Given the description of an element on the screen output the (x, y) to click on. 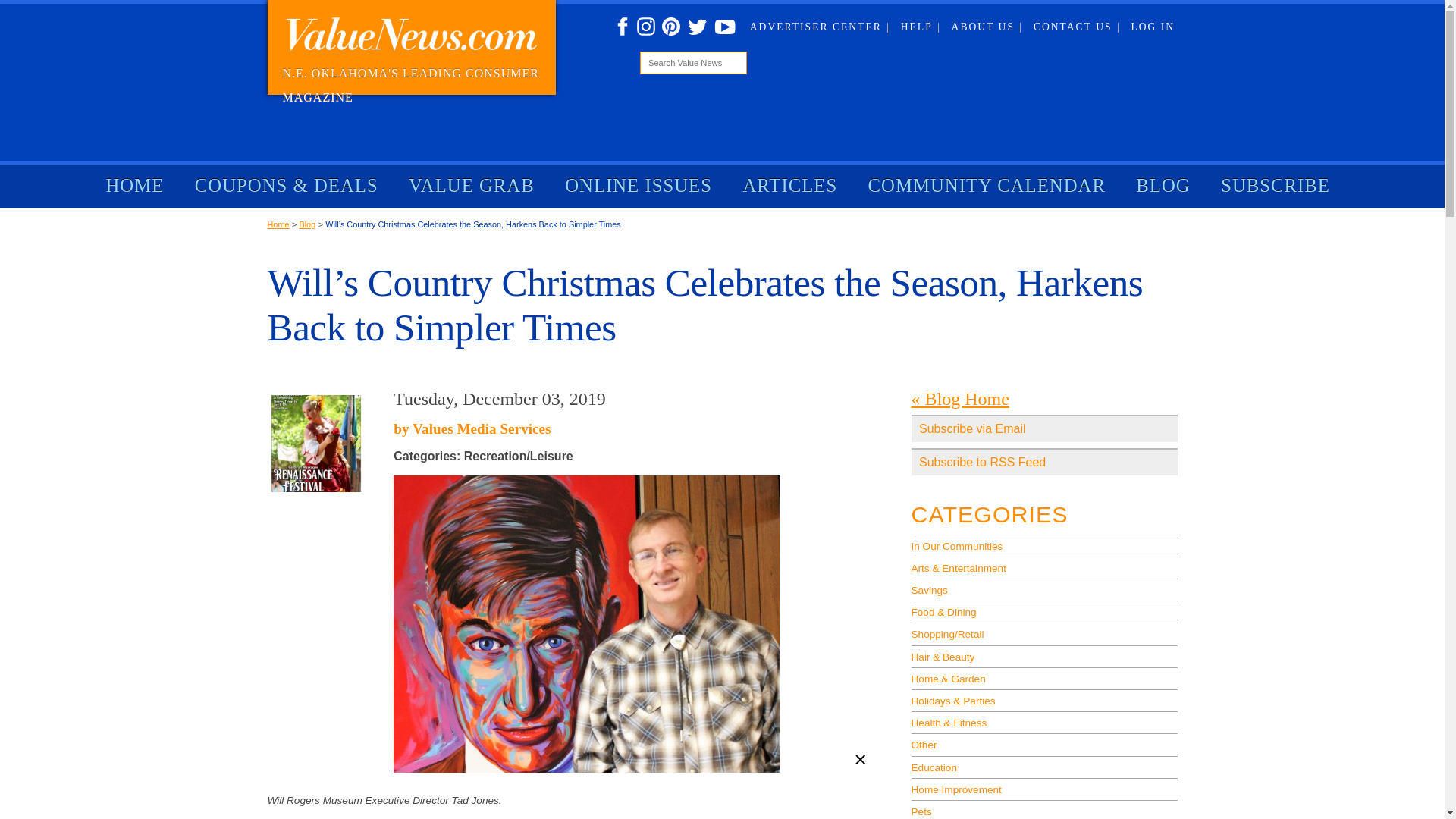
HOME (135, 185)
Blog (306, 224)
Go to the main Blog page. (960, 398)
SUBSCRIBE (1275, 185)
Blog (306, 224)
Log into your Value News account. (1152, 27)
ABOUT US (987, 27)
Subscribe via Email (1044, 428)
Subscribe to RSS Feed (1044, 461)
In Our Communities (1044, 545)
